Given the description of an element on the screen output the (x, y) to click on. 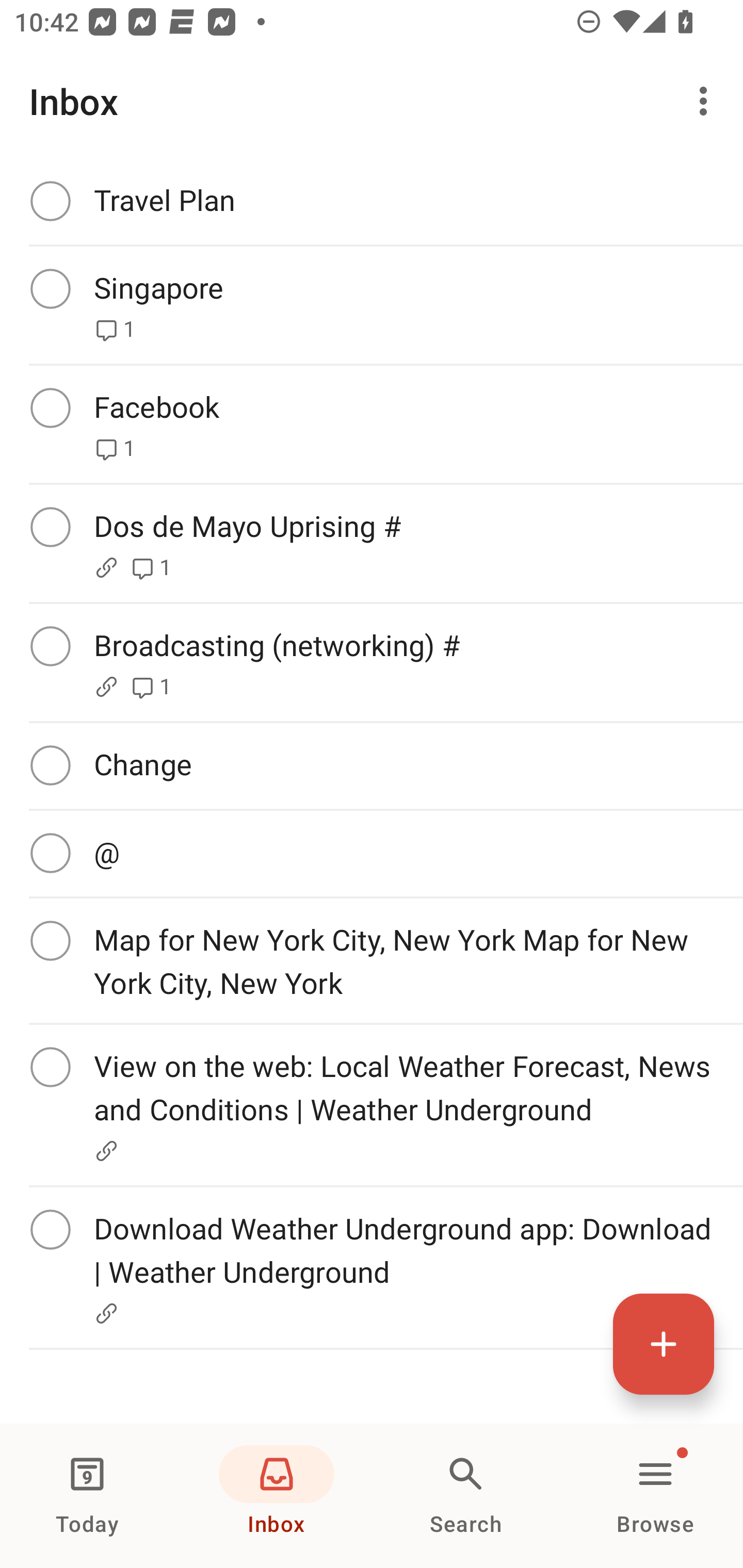
Inbox More options (371, 100)
More options (706, 101)
Complete Travel Plan (371, 201)
Complete (50, 200)
Complete Singapore 1 Comments (371, 304)
Complete (50, 288)
Complete Facebook 1 Comments (371, 423)
Complete (50, 407)
Complete (50, 526)
Complete (50, 645)
Complete Change (371, 765)
Complete (50, 765)
Complete @ (371, 853)
Complete (50, 852)
Complete (50, 940)
Complete (50, 1066)
Complete (50, 1229)
Quick add (663, 1343)
Today (87, 1495)
Search (465, 1495)
Browse (655, 1495)
